Given the description of an element on the screen output the (x, y) to click on. 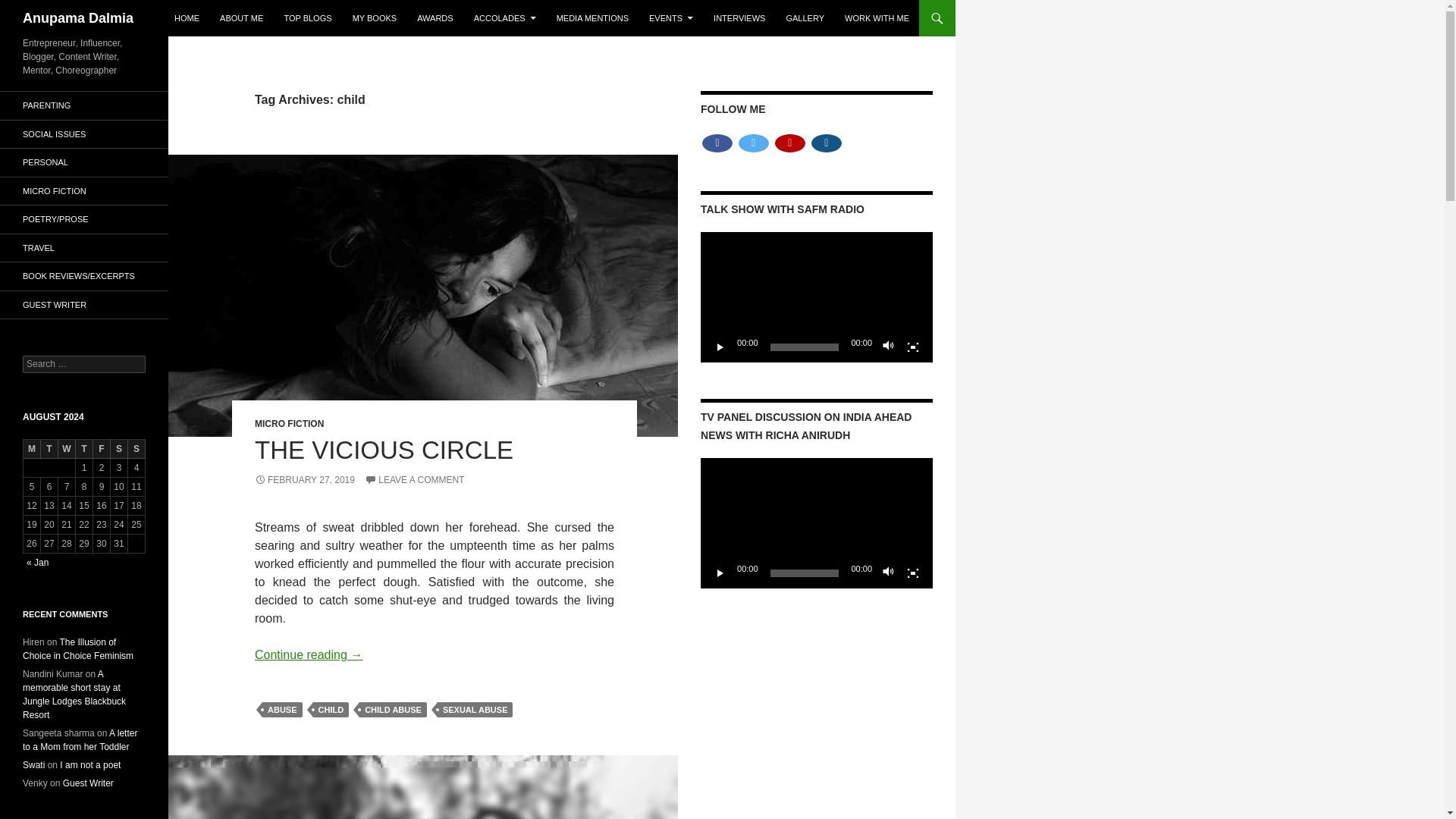
Monday (31, 448)
CHILD (331, 709)
TOP BLOGS (307, 18)
HOME (186, 18)
Mute (888, 346)
Mute (888, 572)
WORK WITH ME (876, 18)
Friday (101, 448)
MICRO FICTION (288, 423)
Fullscreen (912, 572)
